Given the description of an element on the screen output the (x, y) to click on. 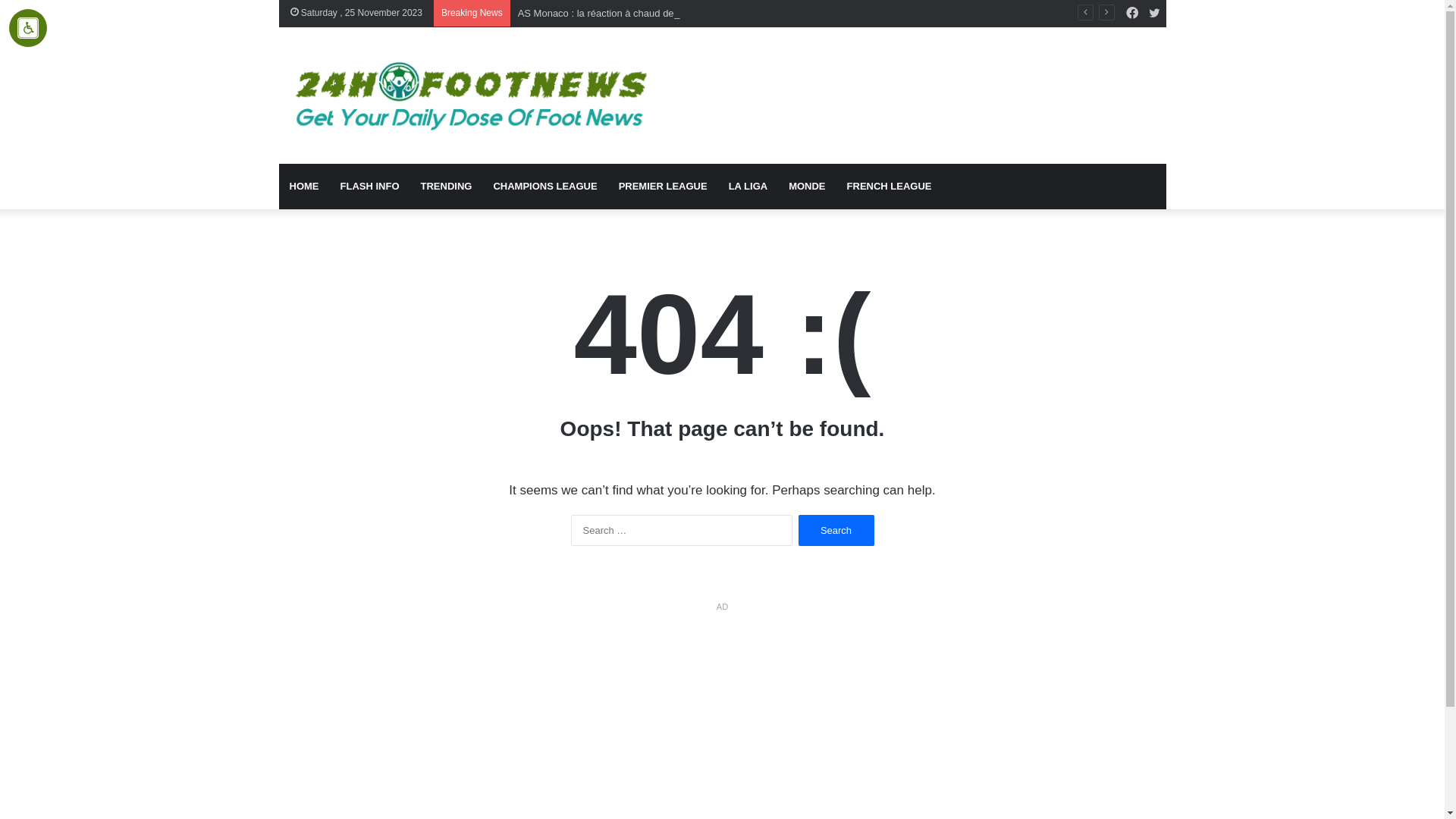
HOME Element type: text (304, 186)
PREMIER LEAGUE Element type: text (663, 186)
TRENDING Element type: text (445, 186)
MONDE Element type: text (806, 186)
Search Element type: text (835, 530)
Twitter Element type: text (1154, 13)
FLASH INFO Element type: text (369, 186)
CHAMPIONS LEAGUE Element type: text (544, 186)
Facebook Element type: text (1131, 13)
AS Monaco : Luis Enrique fier de ses joueurs Element type: text (616, 12)
LA LIGA Element type: text (748, 186)
24hfootnews Element type: hover (467, 95)
FRENCH LEAGUE Element type: text (889, 186)
